Given the description of an element on the screen output the (x, y) to click on. 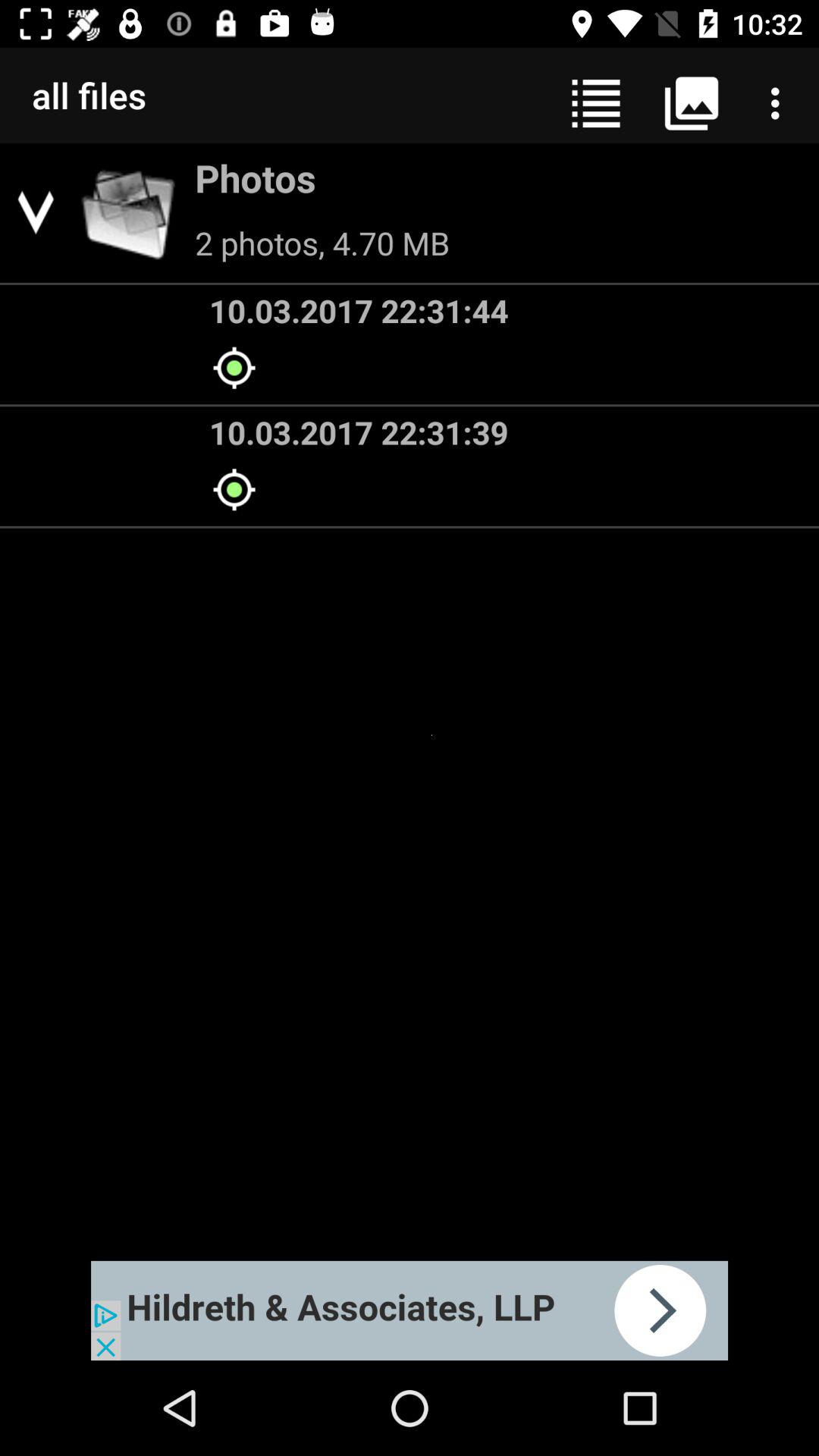
space where you access advertising (409, 1310)
